Given the description of an element on the screen output the (x, y) to click on. 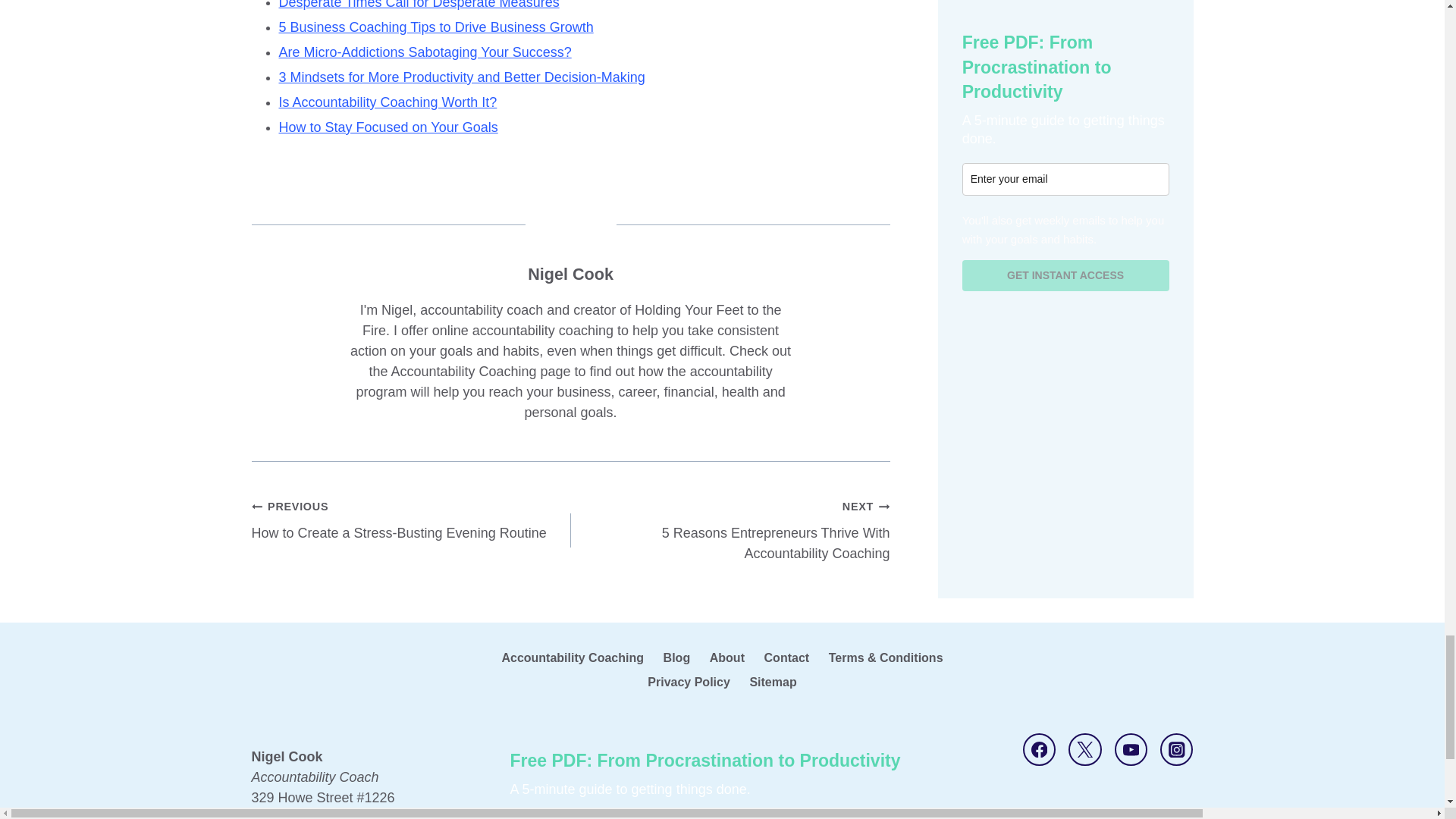
Are Micro-Addictions Sabotaging Your Success? (425, 52)
3 Mindsets for More Productivity and Better Decision-Making (462, 77)
Desperate Times Call for Desperate Measures (419, 4)
5 Business Coaching Tips to Drive Business Growth (410, 519)
Is Accountability Coaching Worth It? (436, 27)
How to Stay Focused on Your Goals (388, 102)
